Given the description of an element on the screen output the (x, y) to click on. 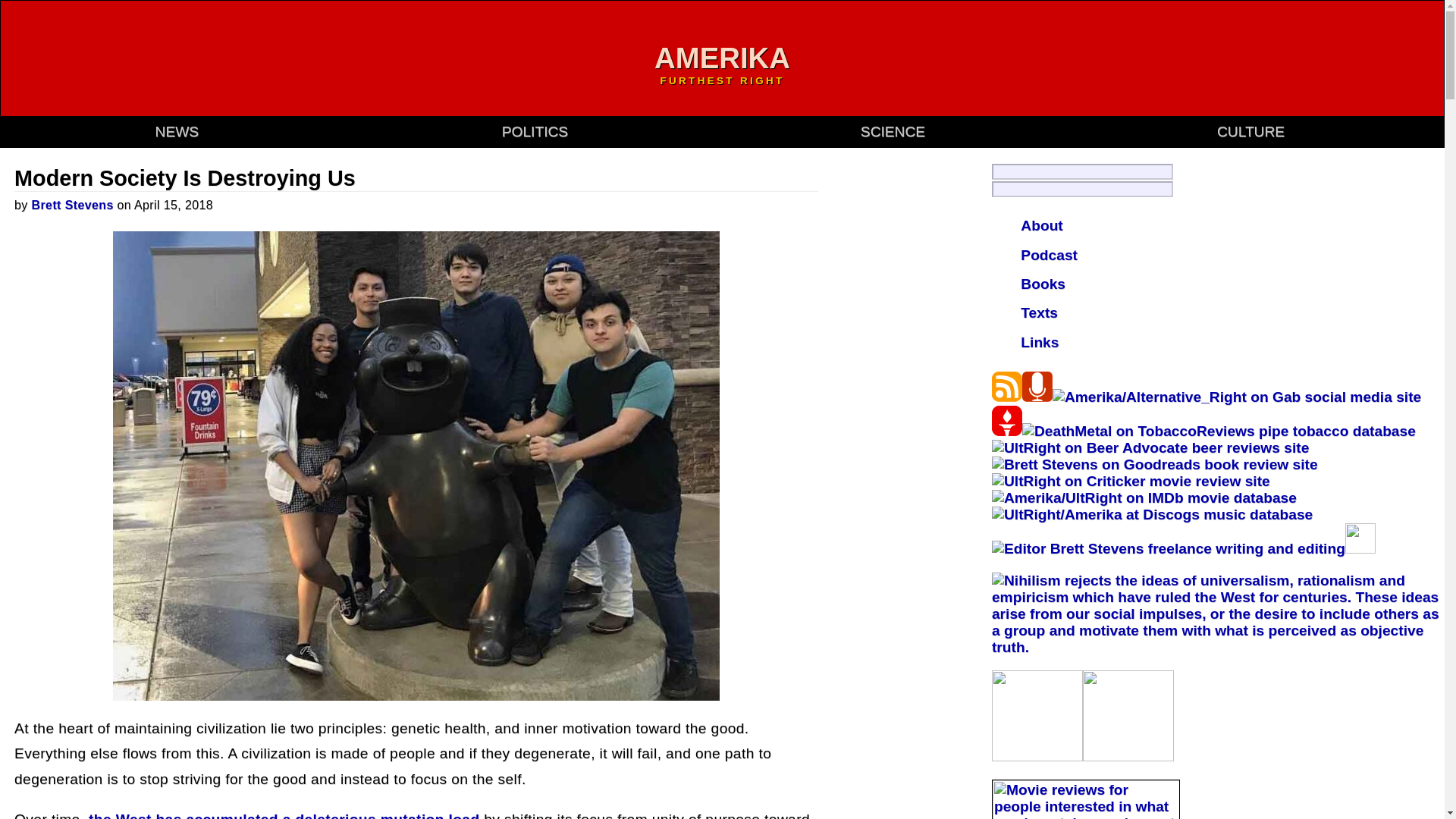
Amerika on Slashdot (1360, 548)
Brett Stevens (72, 205)
POLITICS (534, 131)
the West has accumulated a deleterious mutation load (283, 815)
DeathMetal on TobaccoReviews (1218, 430)
UltRight on Criticker (1130, 480)
Brett Stevens (72, 205)
Brett Stevens on Goodreads (1154, 464)
UltRight on Beer Advocate (1149, 447)
